Given the description of an element on the screen output the (x, y) to click on. 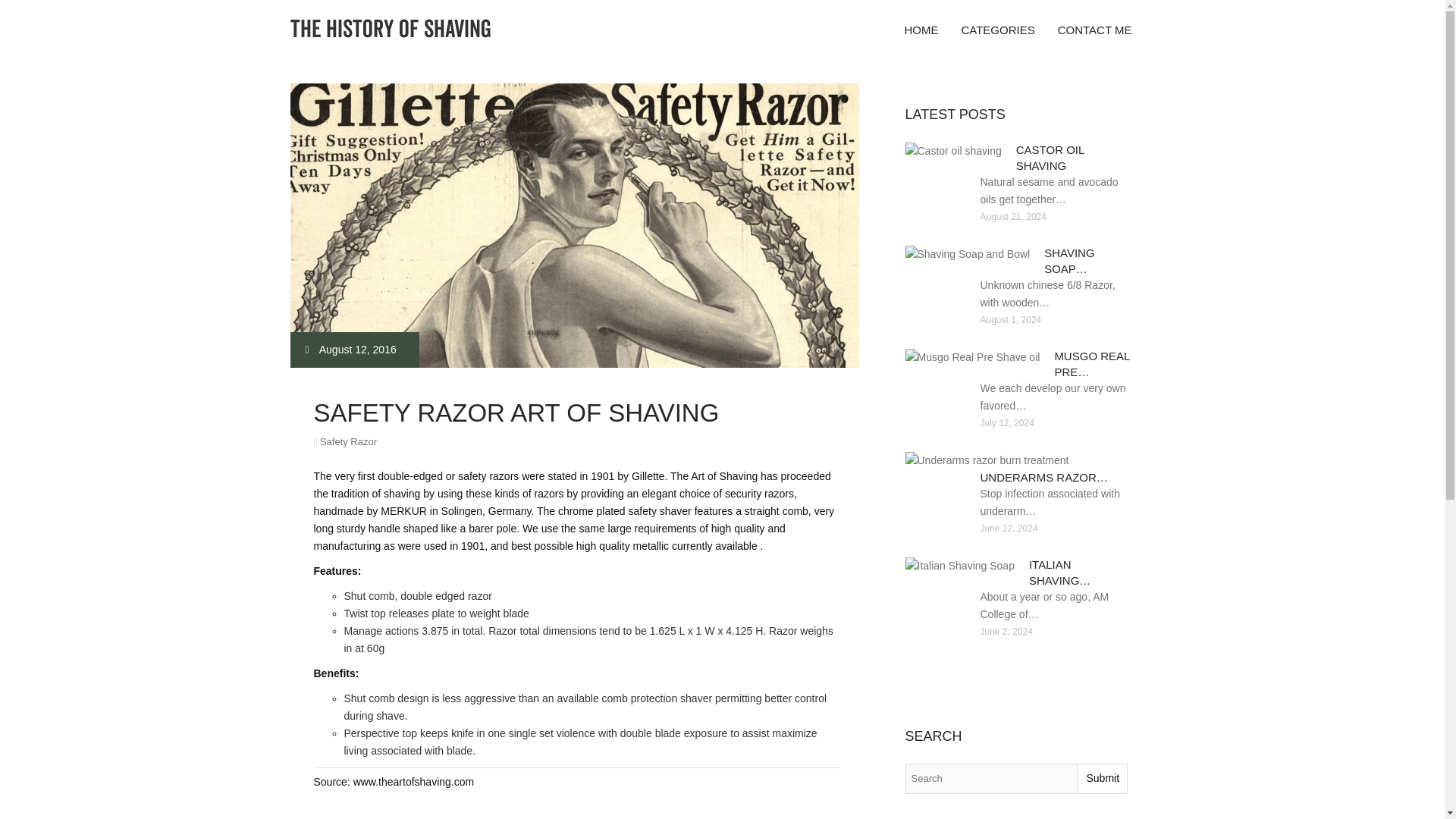
CONTACT ME (1094, 30)
CATEGORIES (997, 30)
CASTOR OIL SHAVING (1050, 157)
Safety Razor (348, 441)
HOME (920, 30)
Submit (1101, 778)
